Given the description of an element on the screen output the (x, y) to click on. 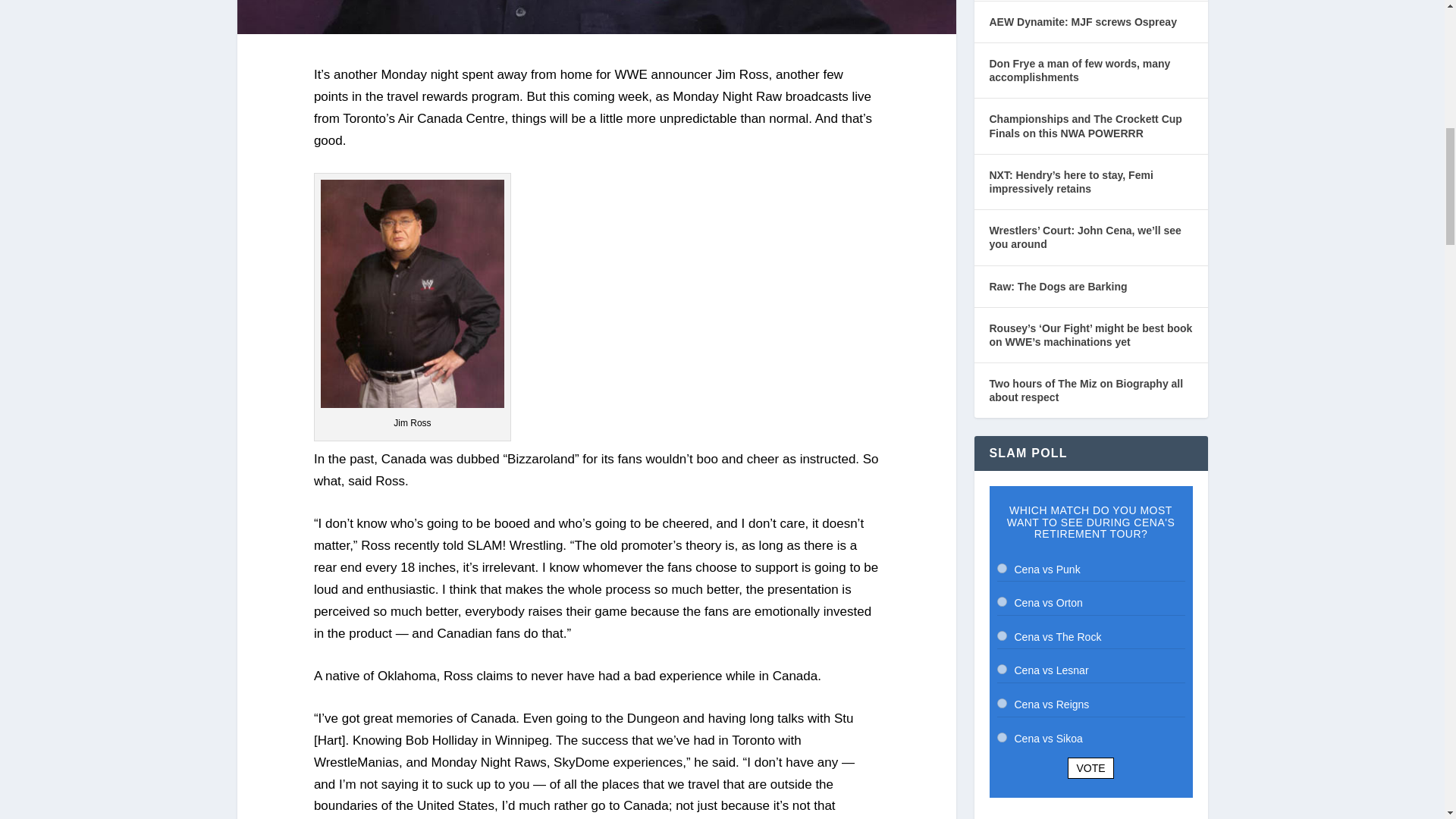
6500 (1000, 669)
6498 (1000, 601)
6501 (1000, 703)
6497 (1000, 568)
6502 (1000, 737)
6499 (1000, 635)
